Given the description of an element on the screen output the (x, y) to click on. 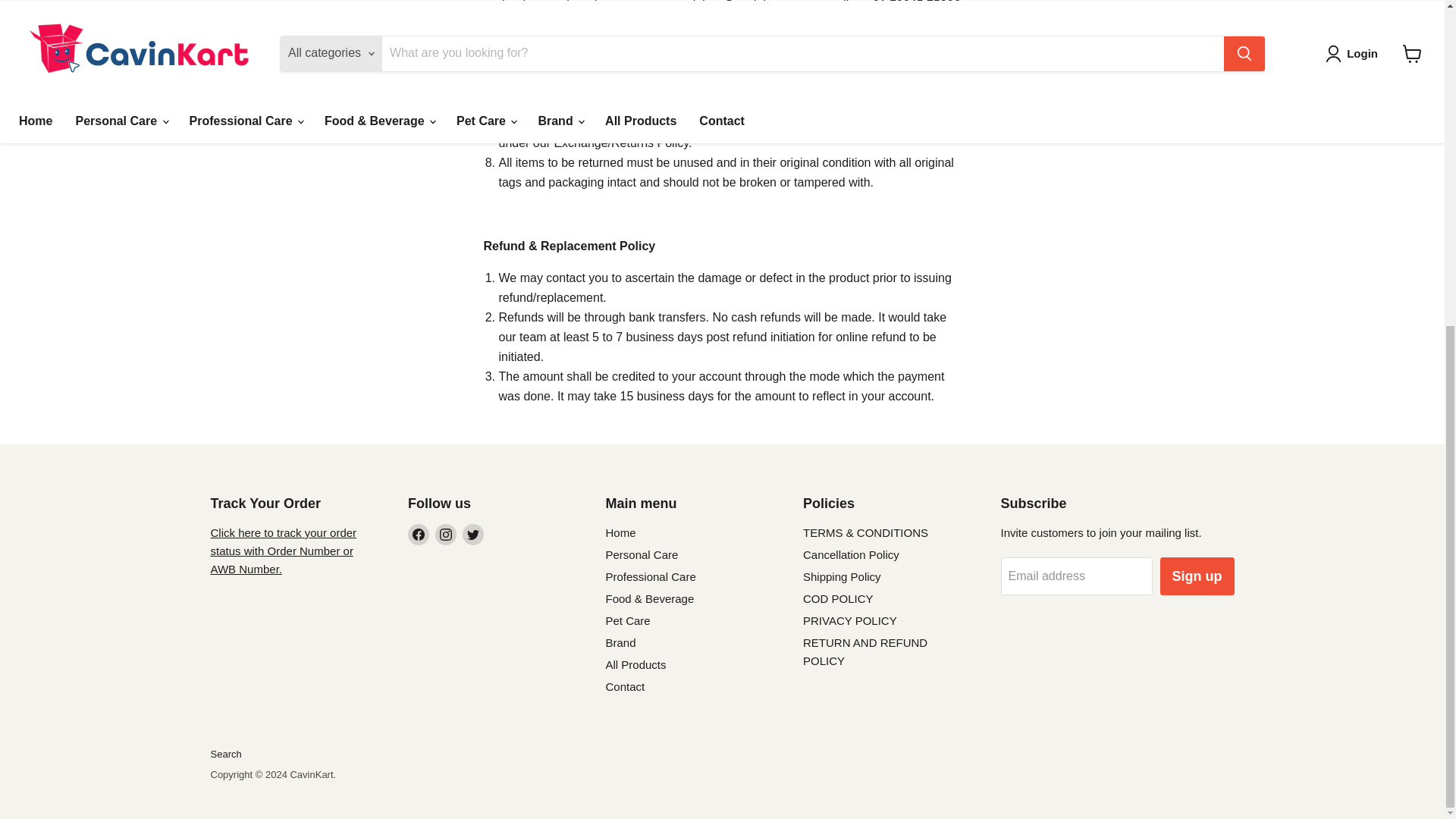
Twitter (473, 534)
CavinKart Order Delivery Tracking (283, 550)
Instagram (446, 534)
Facebook (418, 534)
